Given the description of an element on the screen output the (x, y) to click on. 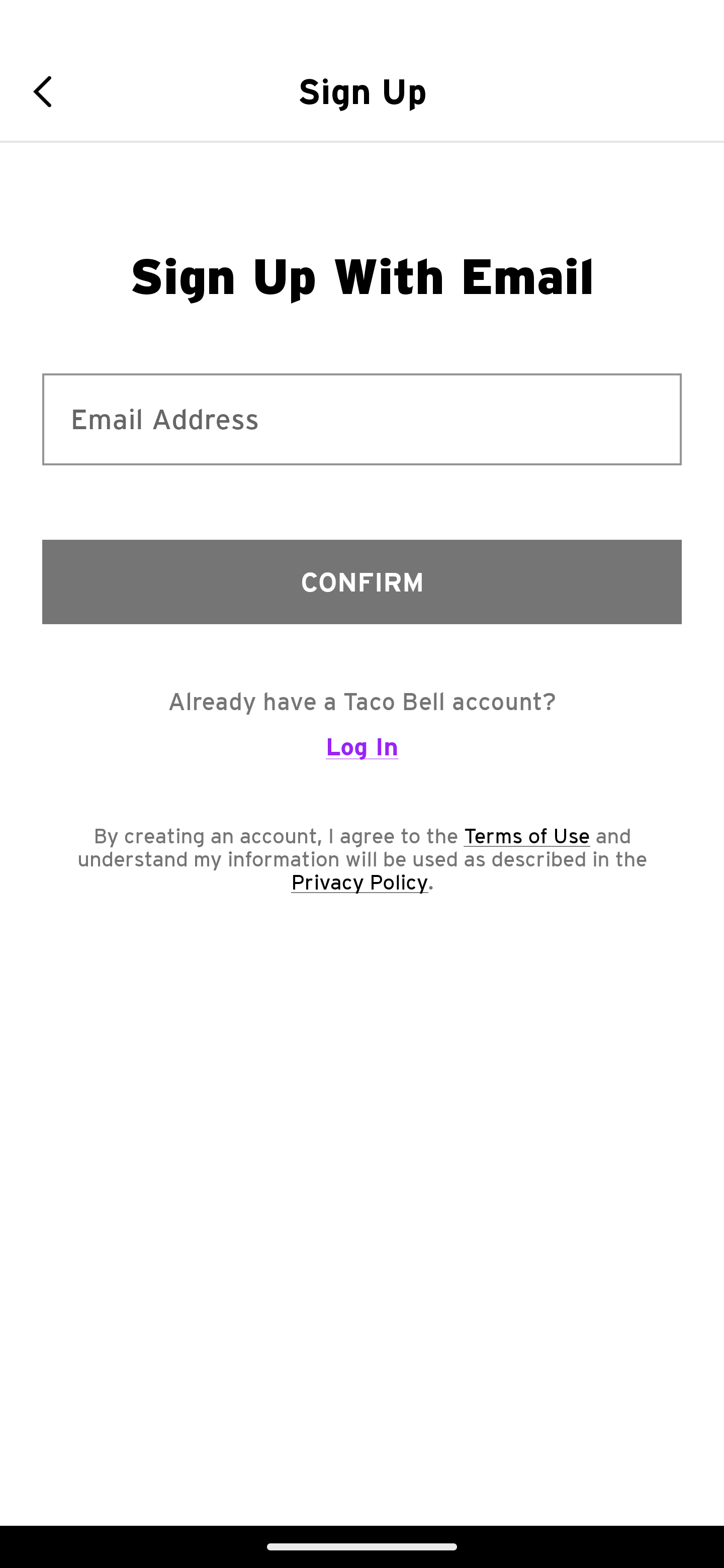
Navigate up (49, 91)
Email Address (361, 419)
CONFIRM (361, 581)
Log In (361, 754)
